Given the description of an element on the screen output the (x, y) to click on. 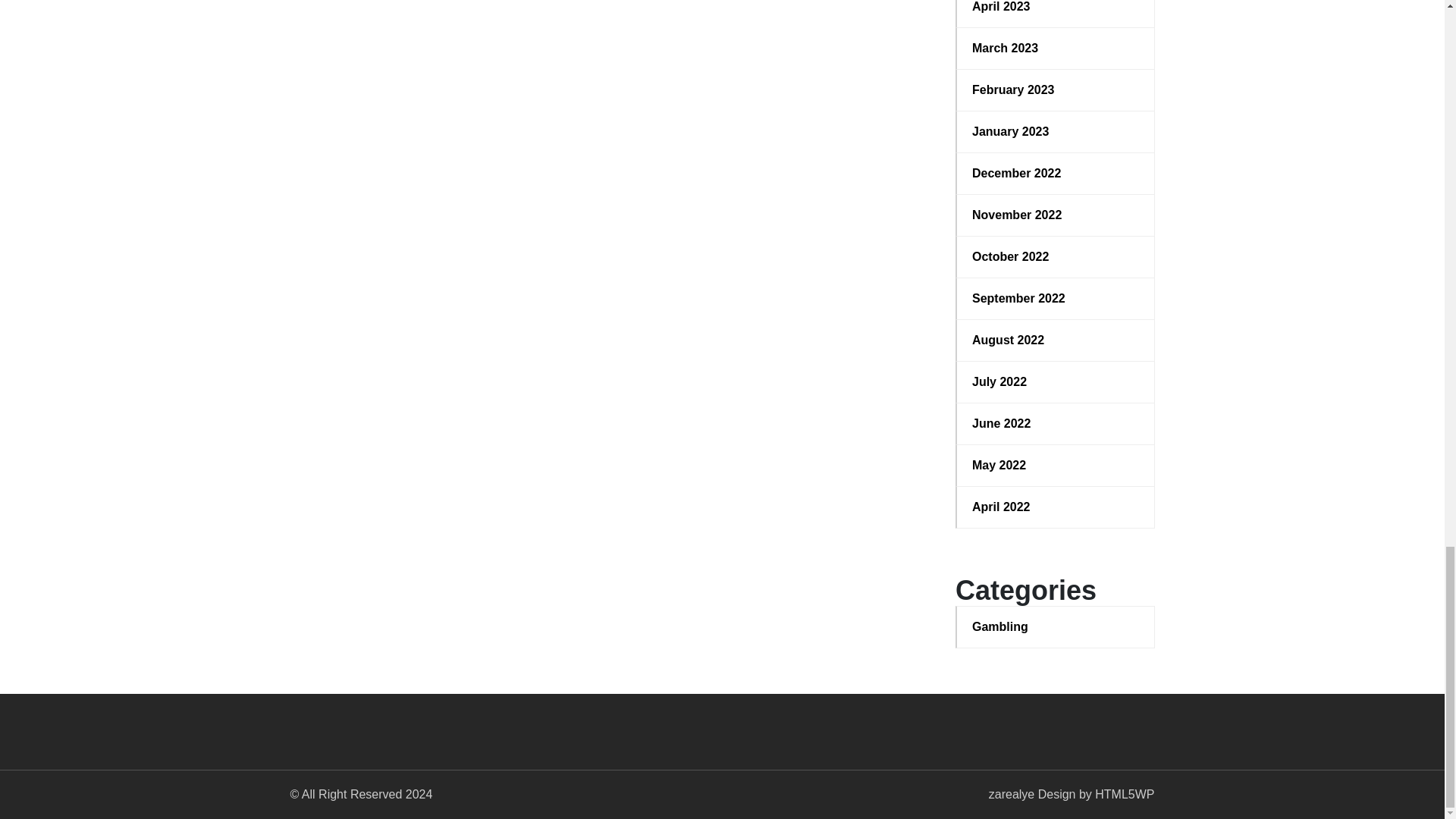
November 2022 (1055, 215)
September 2022 (1055, 298)
December 2022 (1055, 173)
October 2022 (1055, 257)
February 2023 (1055, 90)
April 2023 (1055, 7)
March 2023 (1055, 48)
January 2023 (1055, 131)
August 2022 (1055, 340)
